Given the description of an element on the screen output the (x, y) to click on. 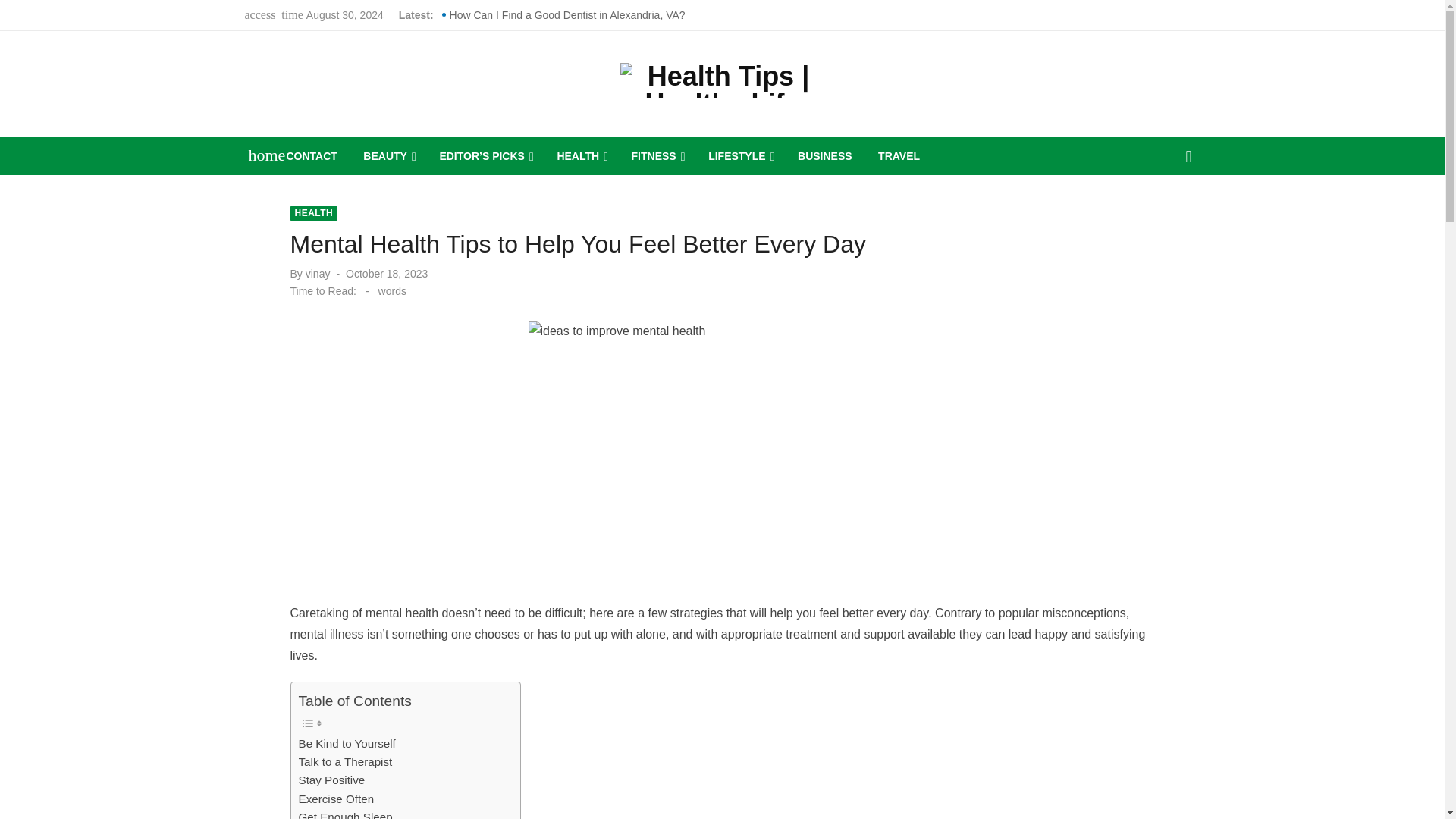
CONTACT (312, 156)
Exercise Often (336, 799)
Stay Positive (331, 780)
Get Enough Sleep (345, 813)
BEAUTY (387, 156)
FITNESS (657, 156)
Talk to a Therapist (345, 761)
Be Kind to Yourself (347, 743)
home (259, 154)
